Given the description of an element on the screen output the (x, y) to click on. 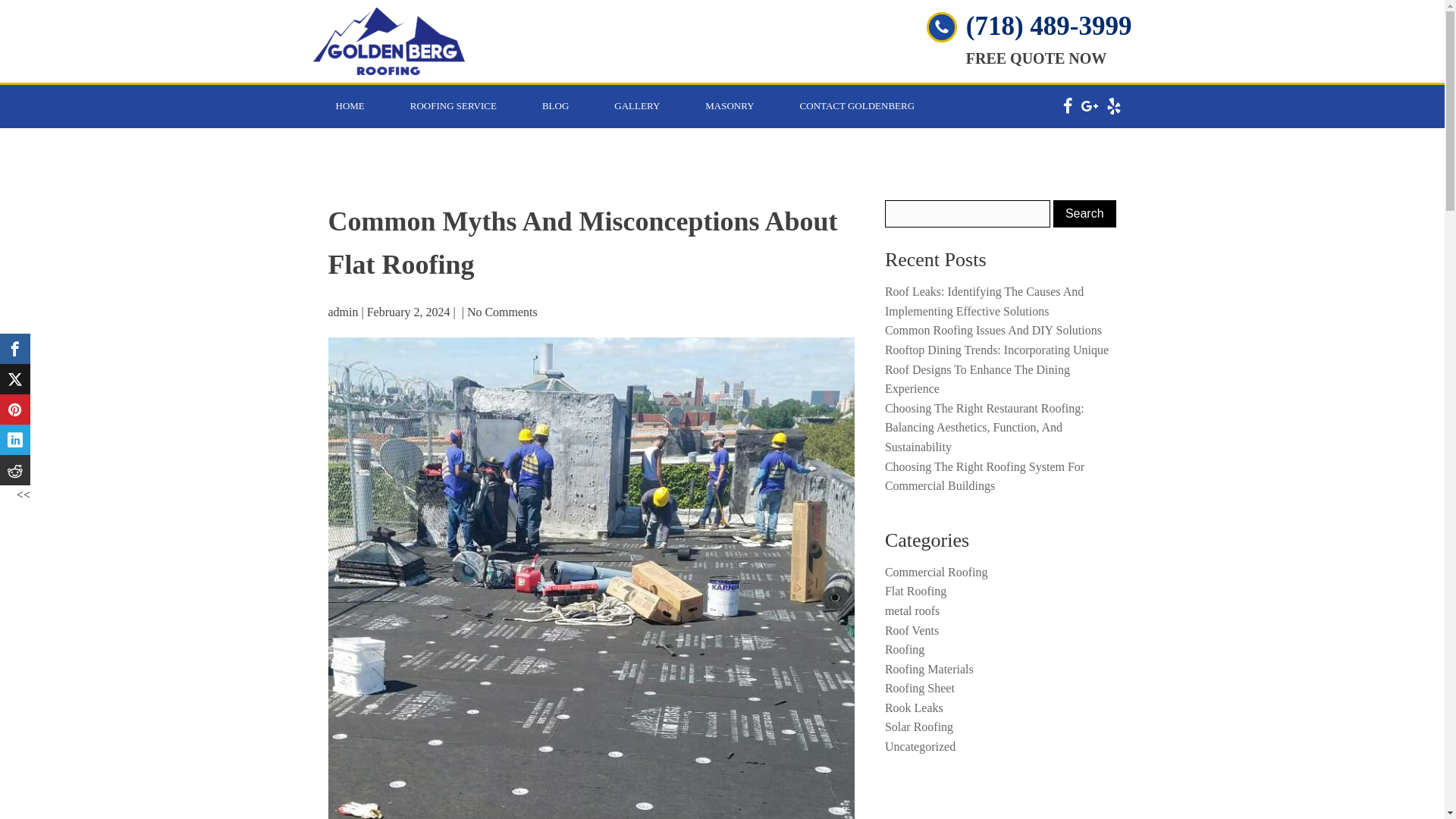
Common Roofing Issues And DIY Solutions (993, 329)
CONTACT GOLDENBERG (857, 106)
Roofing (904, 649)
Uncategorized (920, 746)
Flat Roofing (915, 590)
GALLERY (636, 106)
Rook Leaks (914, 707)
HOME (350, 106)
ROOFING SERVICE (453, 106)
MASONRY (729, 106)
metal roofs (912, 610)
Search (1084, 213)
Search (1084, 213)
